Given the description of an element on the screen output the (x, y) to click on. 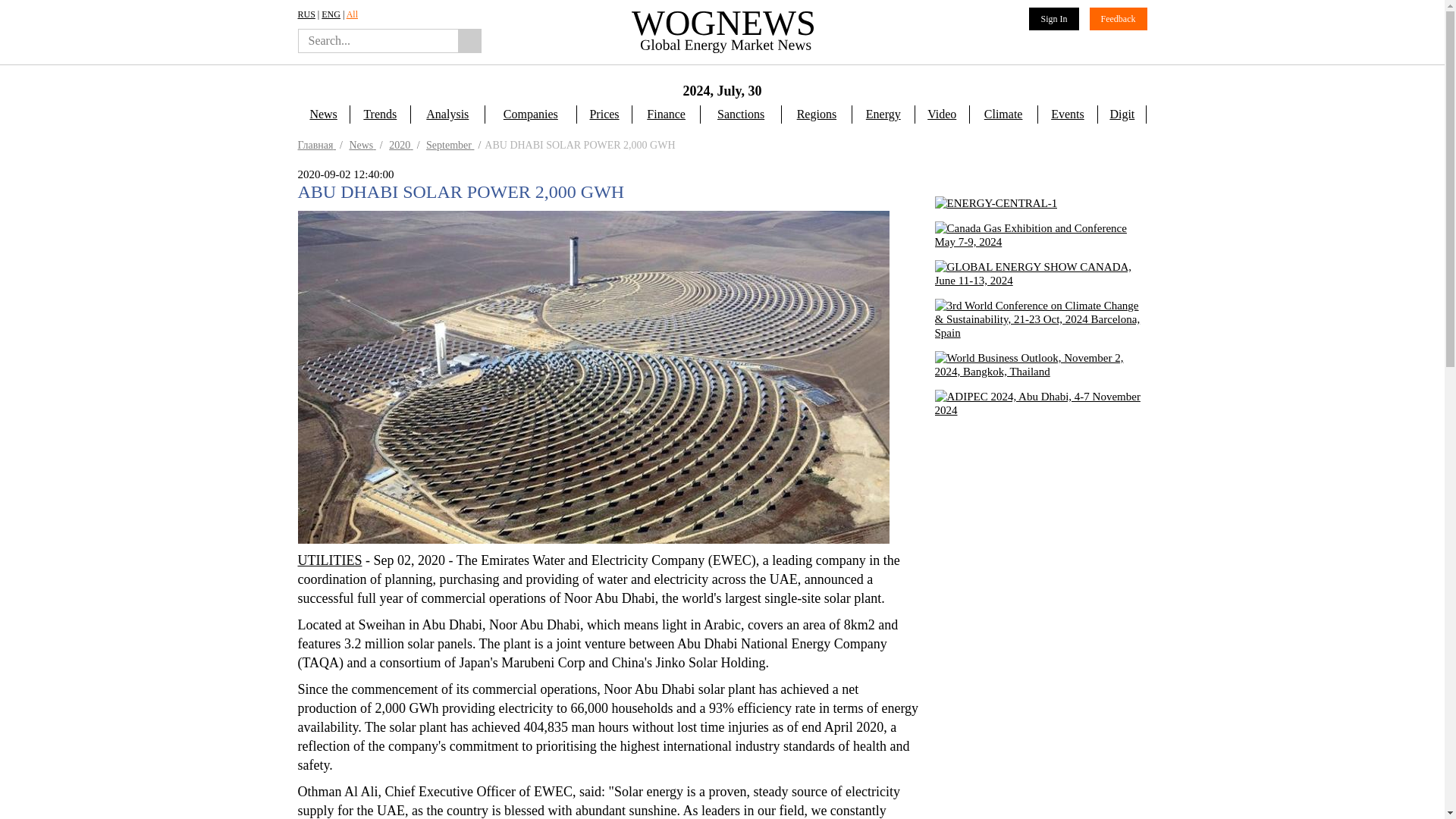
GLOBAL ENERGY SHOW CANADA, June 11-13, 2024 (1040, 273)
World Business Outlook, November 2, 2024, Bangkok, Thailand (1040, 364)
Feedback (1118, 18)
Canada Gas Exhibition and Conference May 7-9, 2024 (1040, 241)
RUS (305, 14)
Prices (603, 114)
ADIPEC 2024, Abu Dhabi, 4-7 November 2024 (1040, 429)
Regions (816, 114)
Finance (665, 114)
Canada Gas Exhibition and Conference May 7-9, 2024 (1040, 234)
Sanctions (740, 114)
Trends (379, 114)
All (352, 14)
ENERGY-CENTRAL-1 (995, 203)
ADIPEC 2024, Abu Dhabi, 4-7 November 2024 (1040, 402)
